Given the description of an element on the screen output the (x, y) to click on. 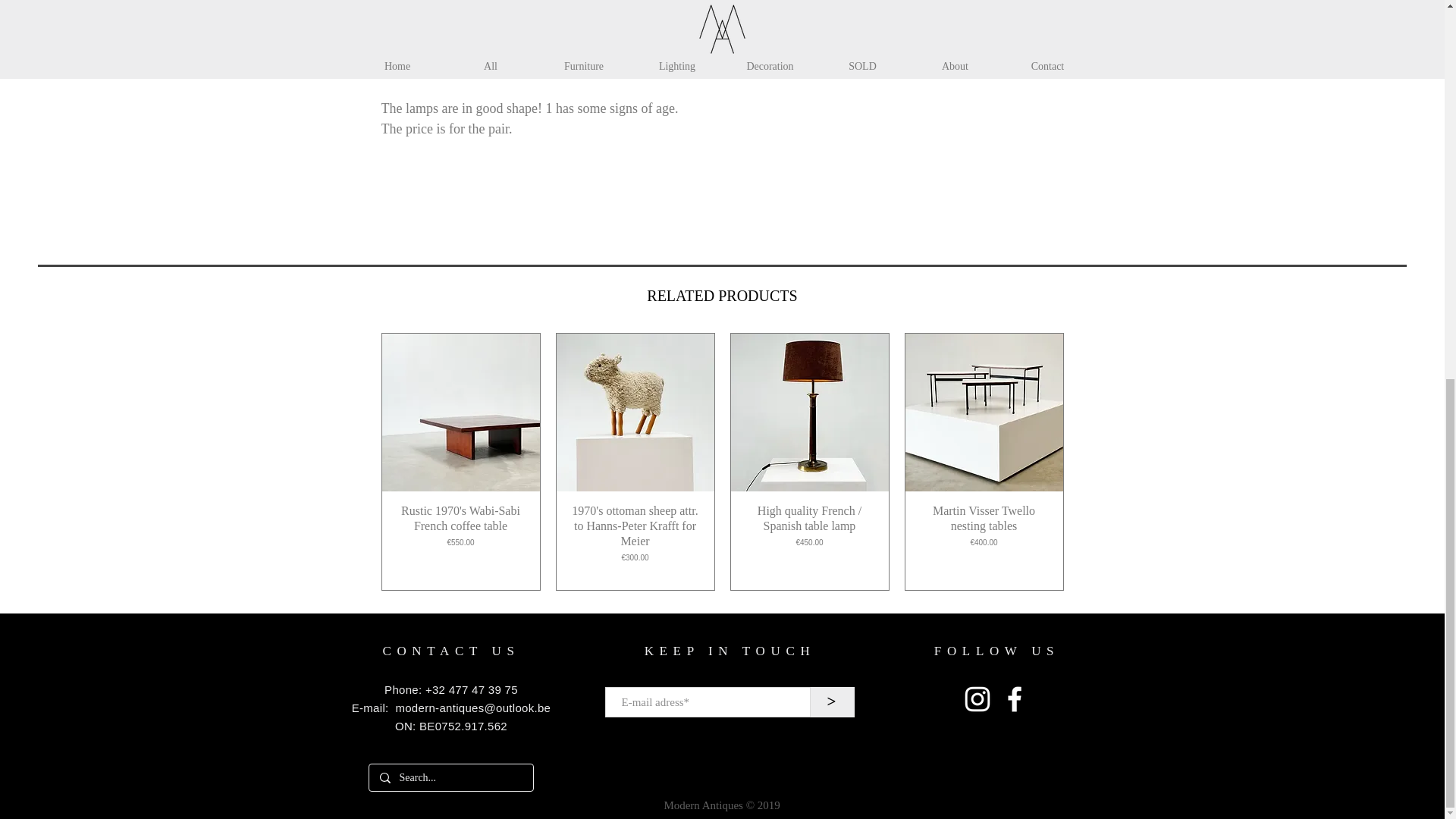
Contact for info or purchase (936, 3)
